Given the description of an element on the screen output the (x, y) to click on. 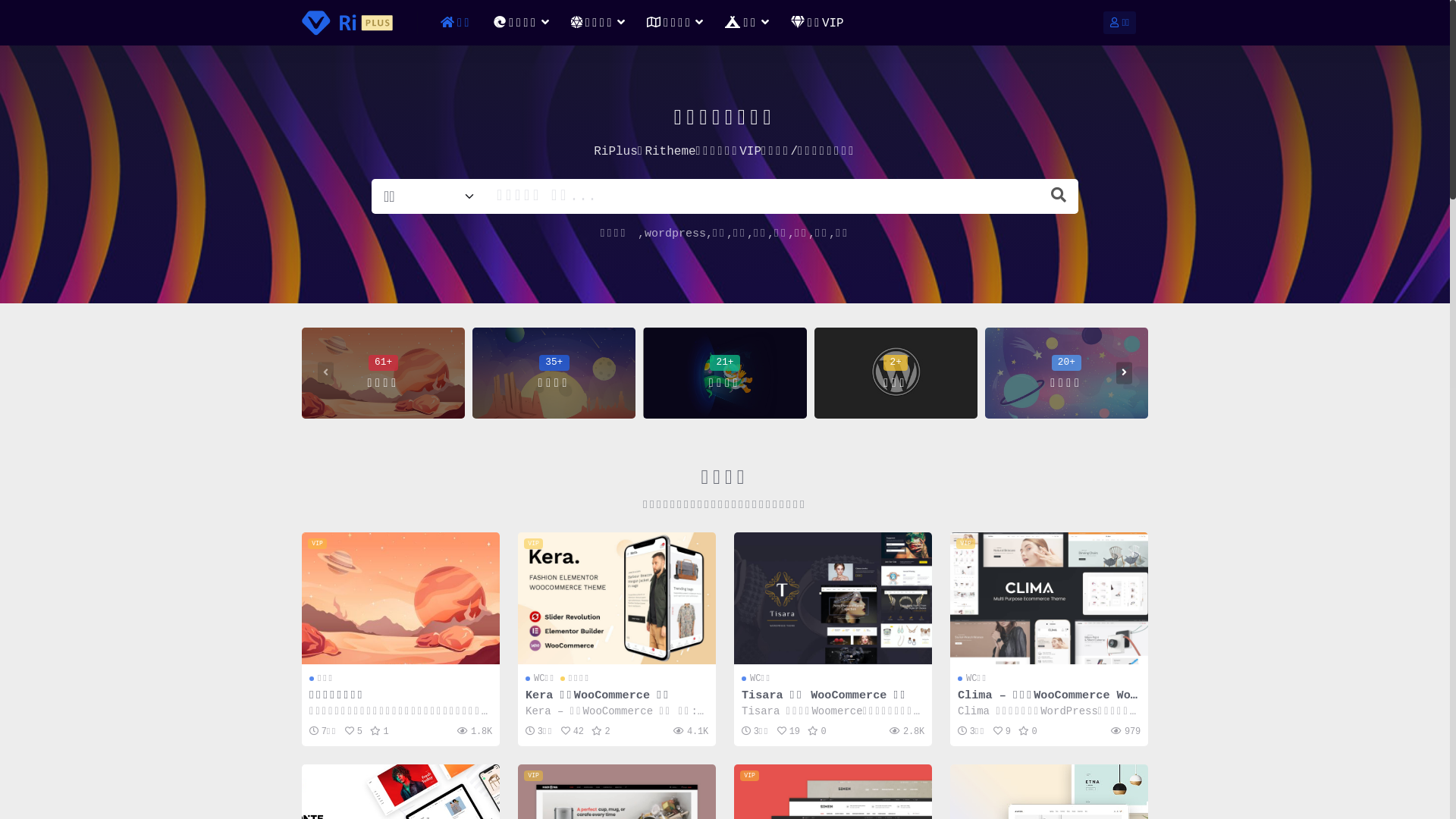
wordpress Element type: text (675, 233)
